Given the description of an element on the screen output the (x, y) to click on. 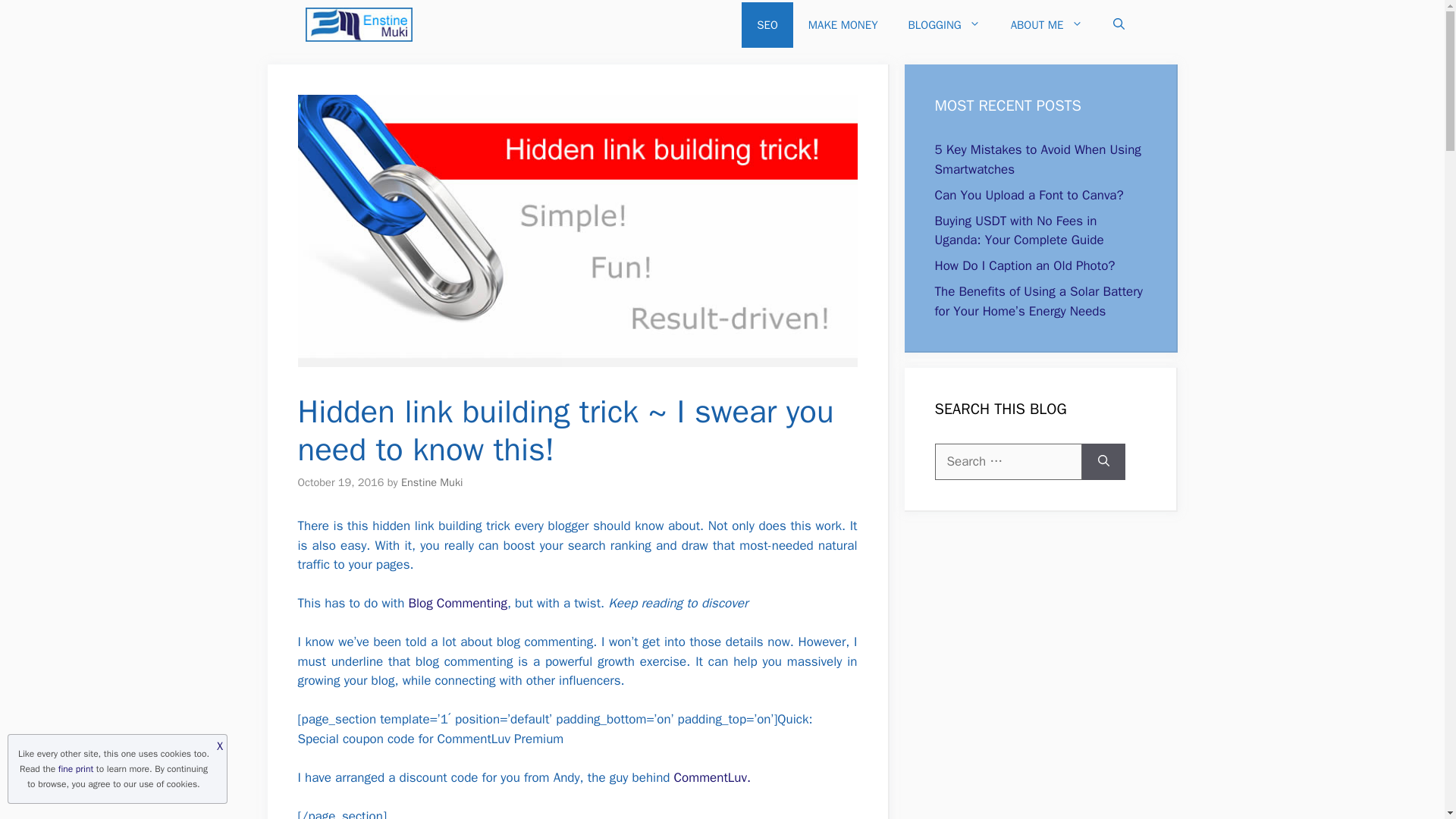
SEO (767, 23)
View all posts by Enstine Muki (432, 481)
MAKE MONEY (843, 23)
Search for: (1007, 461)
Blog Commenting (456, 602)
Buying USDT with No Fees in Uganda: Your Complete Guide (1018, 230)
Business with blogging! (358, 24)
5 Key Mistakes to Avoid When Using Smartwatches (1037, 159)
CommentLuv. (712, 777)
ABOUT ME (1046, 23)
